Given the description of an element on the screen output the (x, y) to click on. 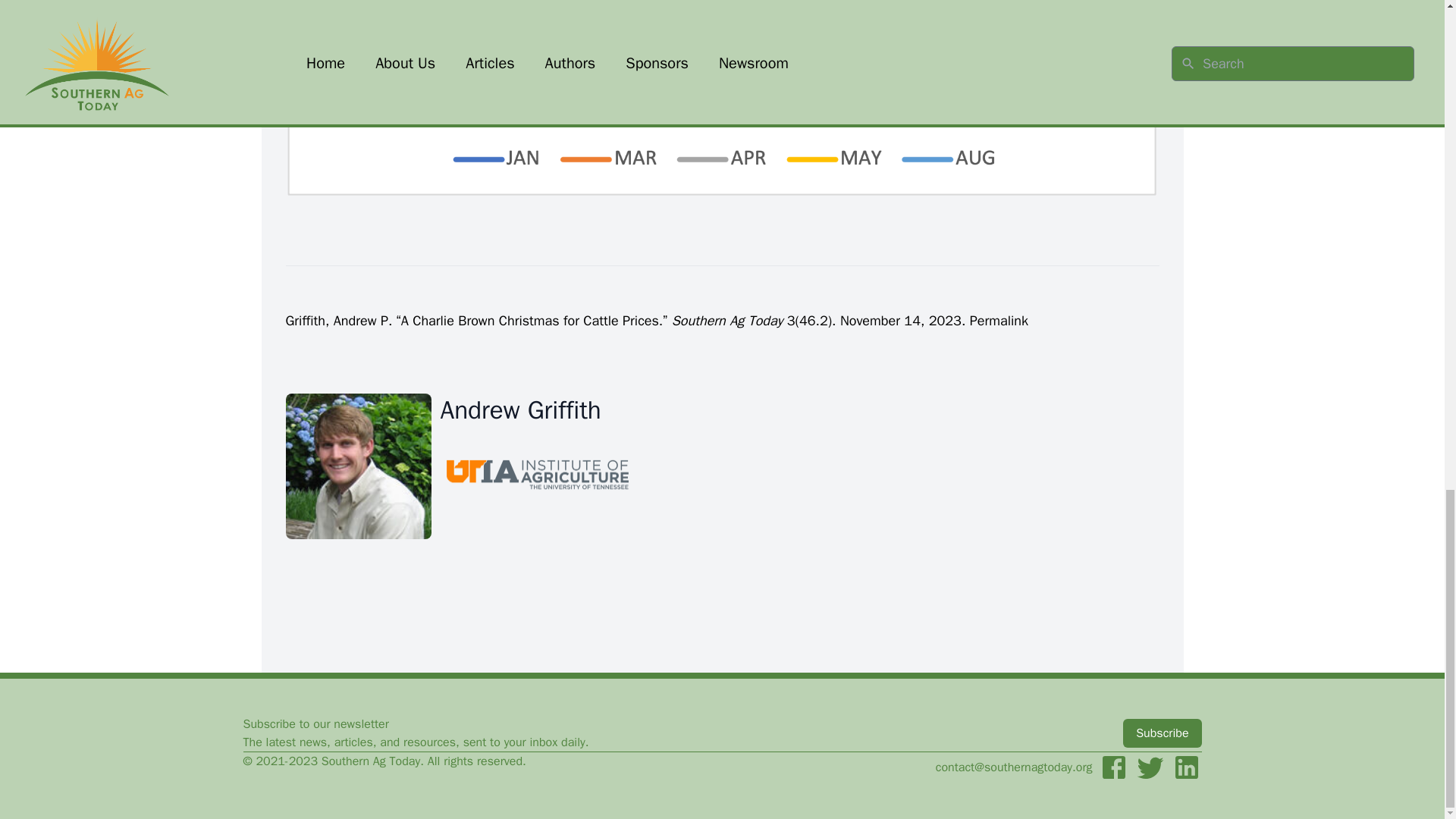
facebook (1112, 767)
A Charlie Brown Christmas for Cattle Prices. (531, 320)
Andrew Griffith (536, 409)
twitter (1149, 767)
Permalink (998, 320)
linked-in (1185, 767)
Andrew Griffith (357, 465)
Subscribe (1161, 733)
